Given the description of an element on the screen output the (x, y) to click on. 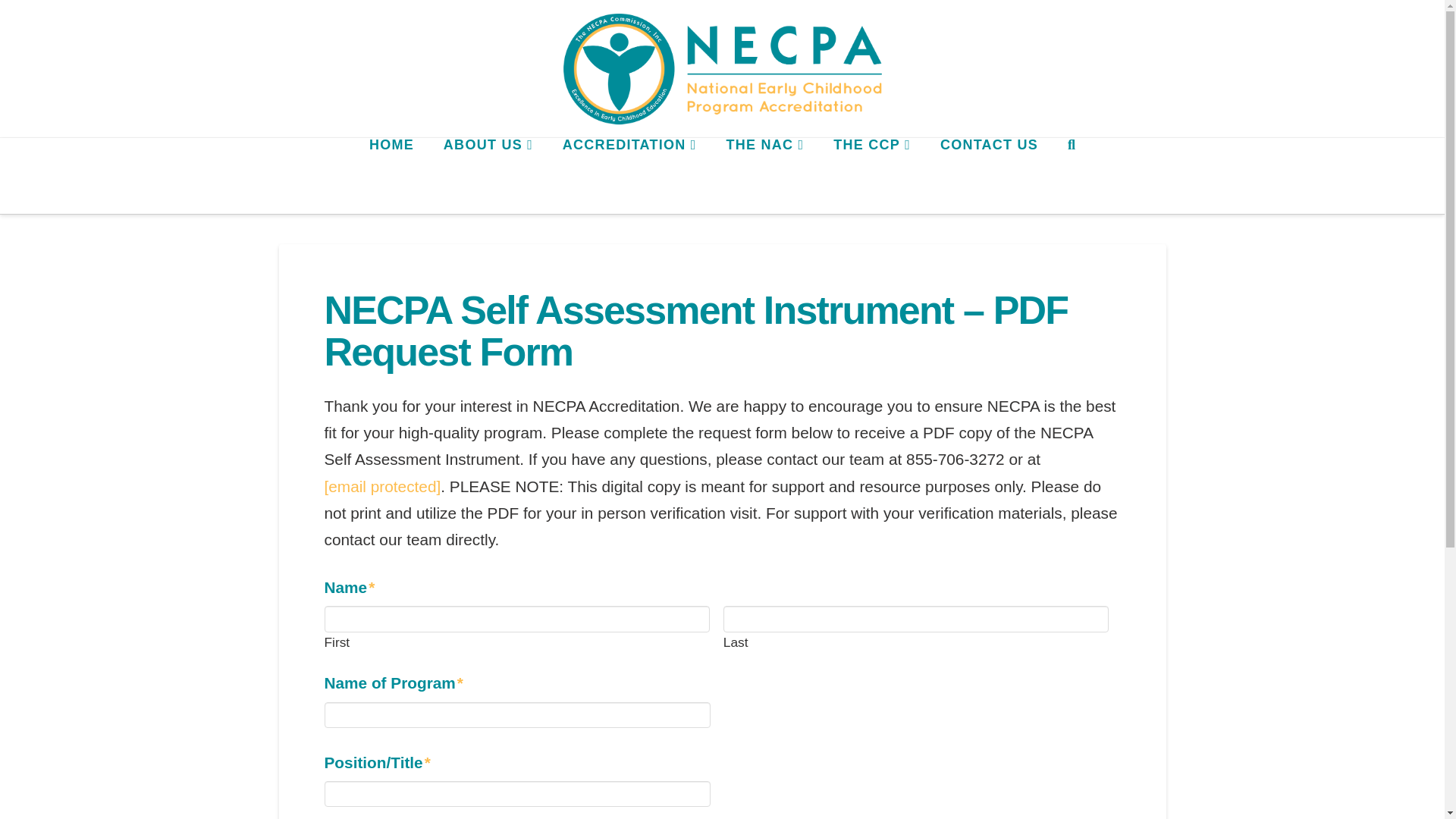
HOME (390, 175)
ACCREDITATION (629, 175)
ABOUT US (487, 175)
THE NAC (764, 175)
